Given the description of an element on the screen output the (x, y) to click on. 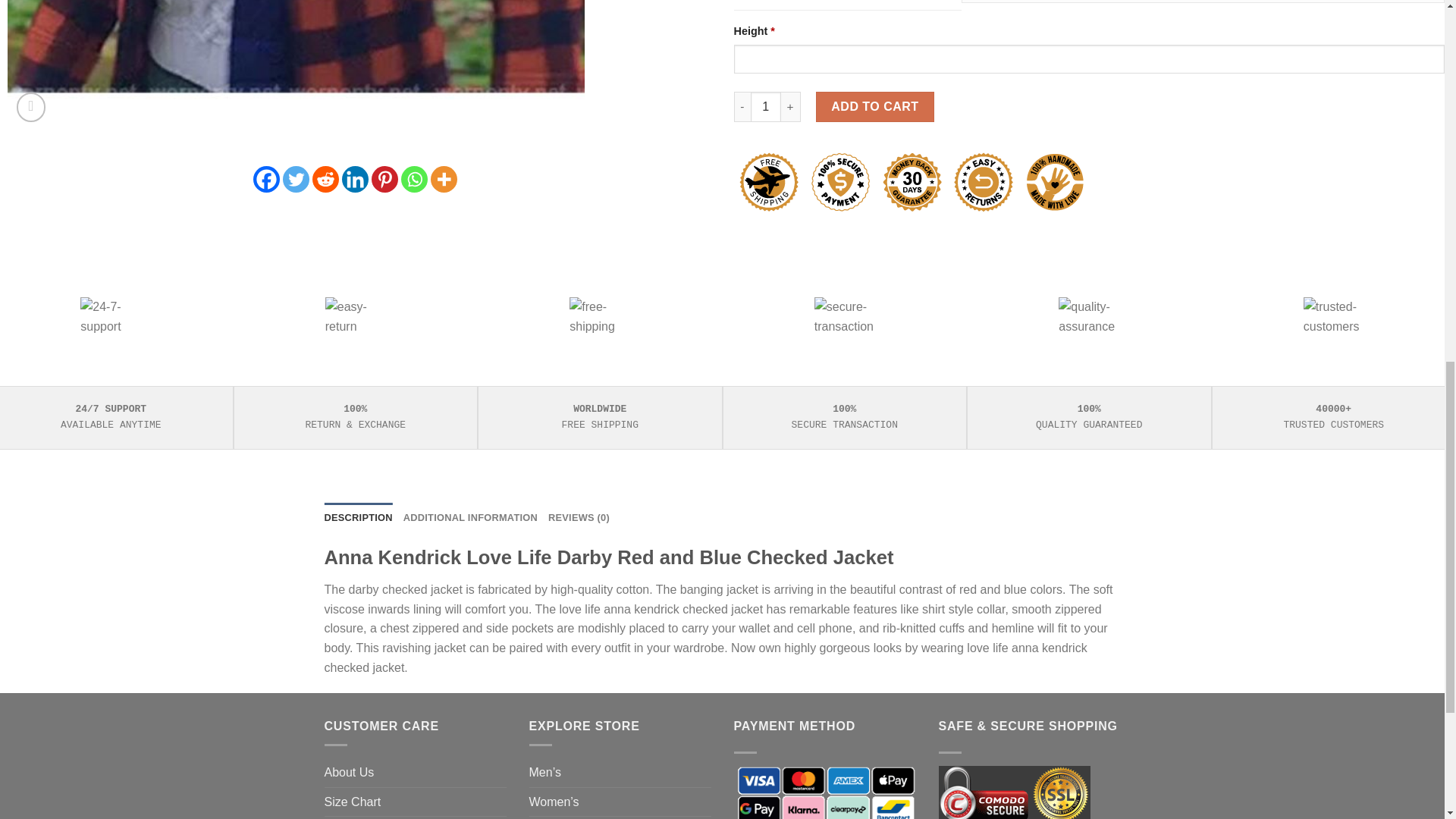
1 (765, 106)
Facebook (266, 179)
darby-checked-jacket (296, 64)
Zoom (31, 107)
Reddit (326, 179)
Twitter (295, 179)
